Given the description of an element on the screen output the (x, y) to click on. 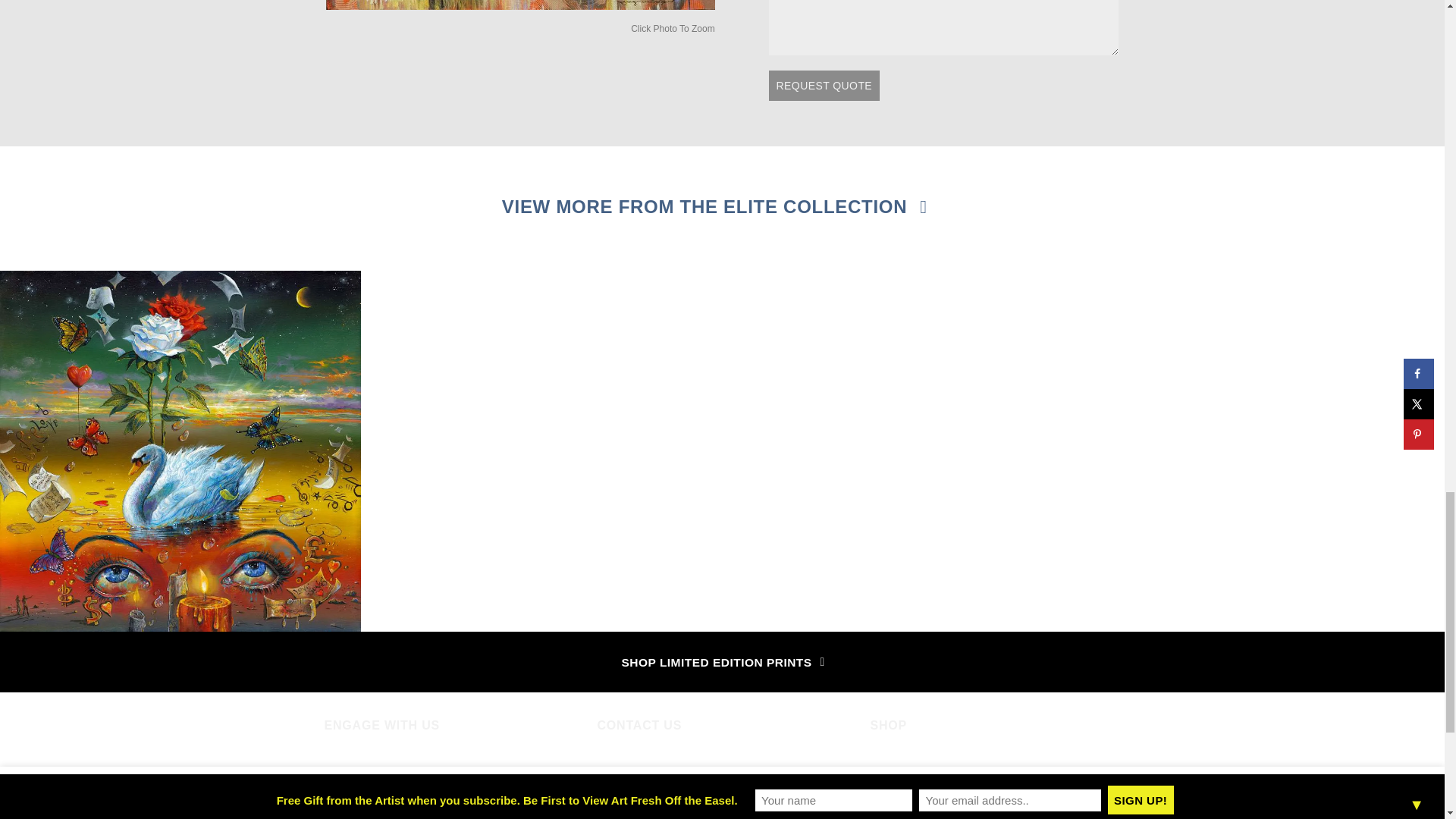
SHOP LIMITED EDITION PRINTS (721, 661)
VIEW MORE FROM THE ELITE COLLECTION (712, 207)
REQUEST QUOTE (824, 85)
Limited Edition Prints (926, 811)
Elite Collection (909, 761)
Signature Collection (923, 786)
Follow on Instagram (364, 769)
Follow on Facebook (337, 769)
